Given the description of an element on the screen output the (x, y) to click on. 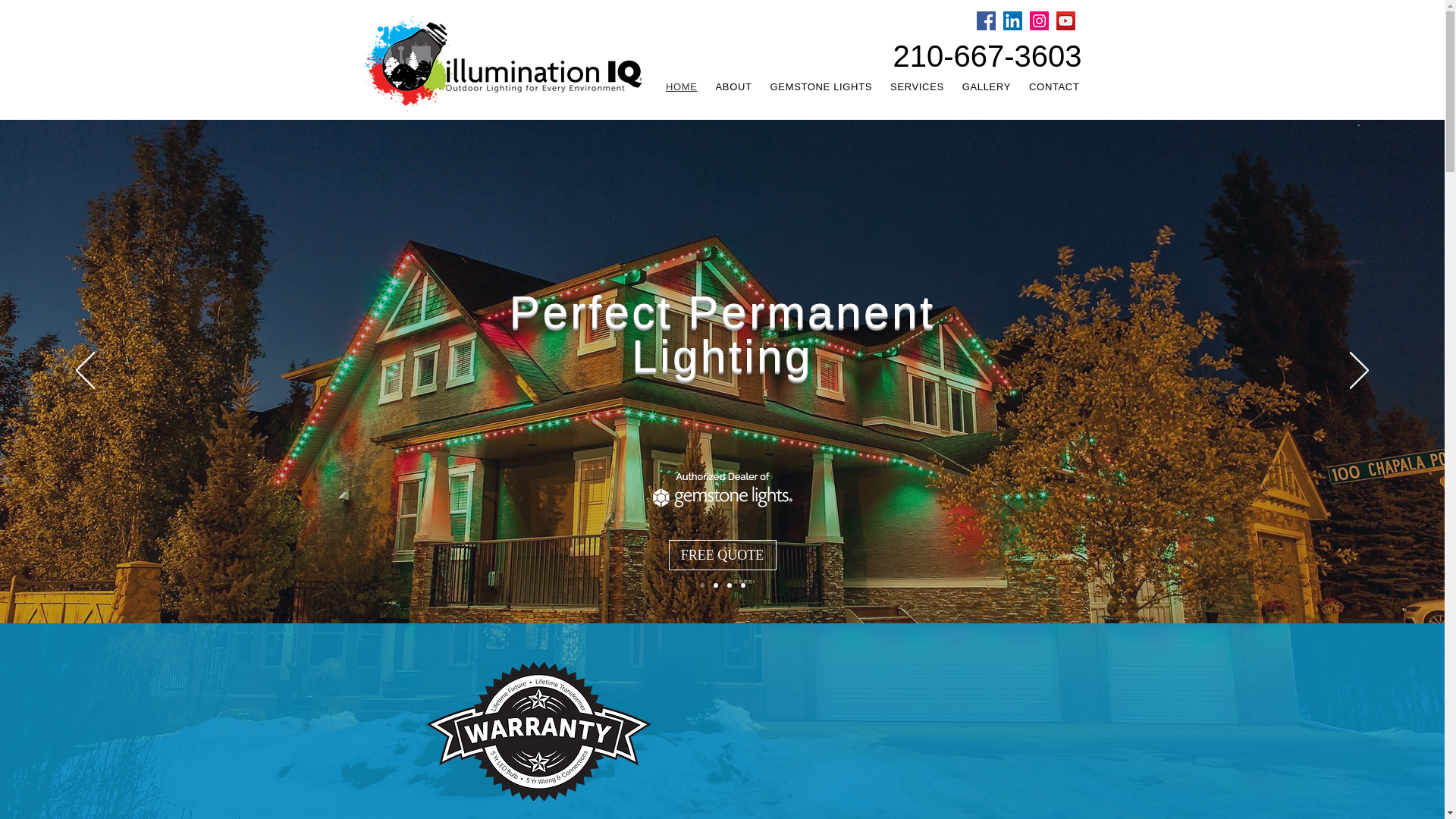
GALLERY (986, 86)
CONTACT (1054, 86)
HOME (681, 86)
GEMSTONE LIGHTS (820, 86)
SERVICES (917, 86)
ABOUT (733, 86)
210-667-3603 (986, 55)
FREE QUOTE (722, 554)
